Given the description of an element on the screen output the (x, y) to click on. 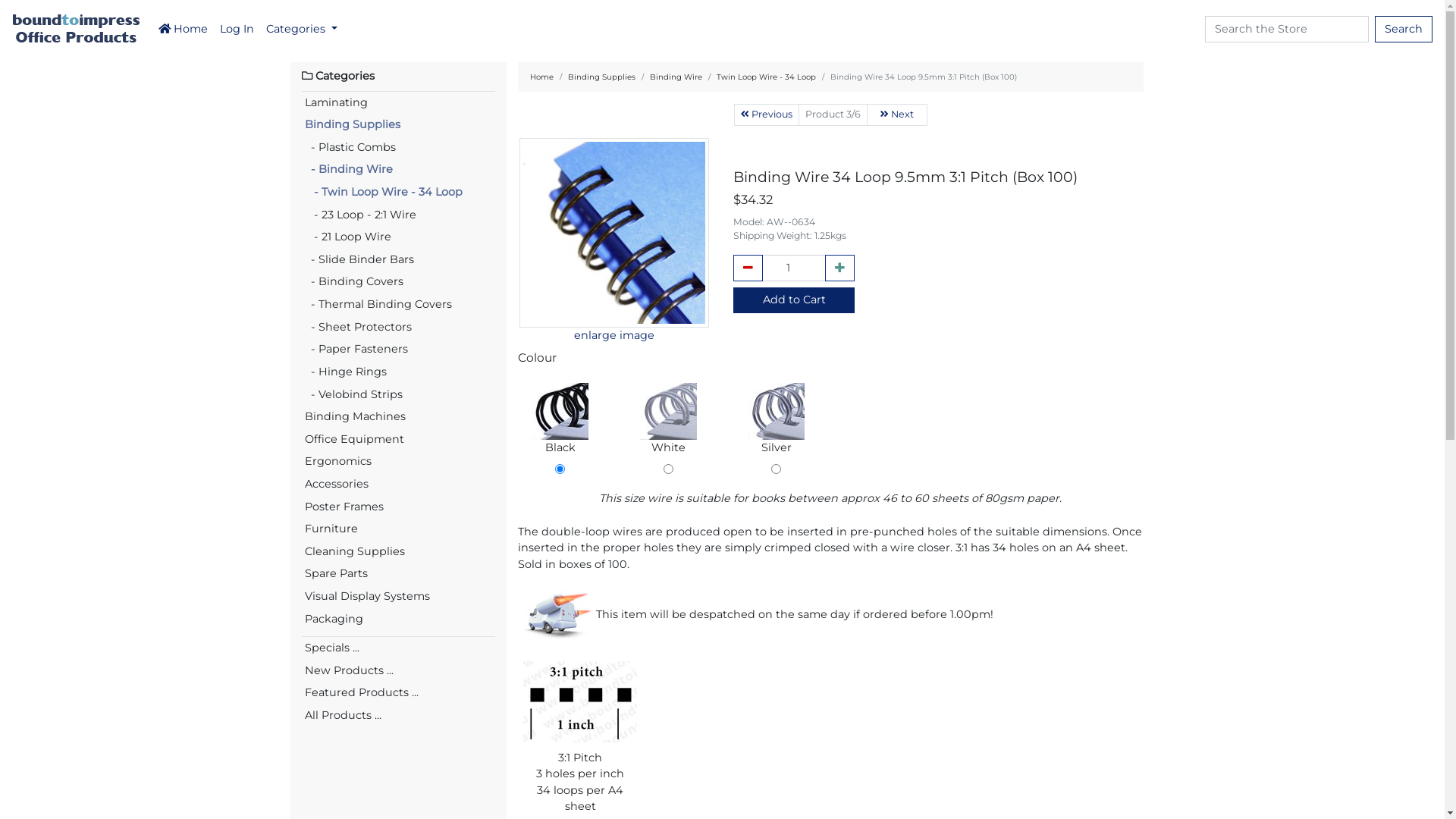
Home Element type: text (182, 29)
  - Velobind Strips Element type: text (398, 394)
Twin Loop Wire - 34 Loop Element type: text (765, 76)
Specials ... Element type: text (398, 648)
New Products ... Element type: text (398, 670)
  - Paper Fasteners Element type: text (398, 349)
  - Thermal Binding Covers Element type: text (398, 304)
Search Element type: text (1403, 29)
Home Element type: text (540, 76)
Binding Supplies Element type: text (398, 124)
   - 23 Loop - 2:1 Wire Element type: text (398, 214)
Visual Display Systems Element type: text (398, 596)
  - Slide Binder Bars Element type: text (398, 259)
Binding Supplies Element type: text (600, 76)
Furniture Element type: text (398, 528)
  - Sheet Protectors Element type: text (398, 327)
enlarge image Element type: text (614, 283)
boundtoimpress Office Products Element type: hover (76, 29)
Poster Frames Element type: text (398, 506)
  - Plastic Combs Element type: text (398, 147)
  - Binding Wire Element type: text (398, 169)
  - Hinge Rings Element type: text (398, 371)
Same Day Despatch Element type: hover (556, 614)
Packaging Element type: text (398, 619)
Ergonomics Element type: text (398, 461)
  - Binding Covers Element type: text (398, 281)
Accessories Element type: text (398, 484)
Cleaning Supplies Element type: text (398, 551)
Laminating Element type: text (398, 102)
Next Element type: text (896, 114)
All Products ... Element type: text (398, 715)
 Binding Wire 34 Loop 9.5mm 3:1 Pitch (Box 100)  Element type: hover (614, 232)
Binding Wire Element type: text (675, 76)
Office Equipment Element type: text (398, 439)
   - Twin Loop Wire - 34 Loop Element type: text (398, 192)
Product 3/6 Element type: text (831, 114)
Previous Element type: text (766, 114)
Binding Machines Element type: text (398, 416)
Featured Products ... Element type: text (398, 692)
Categories Element type: text (301, 29)
   - 21 Loop Wire Element type: text (398, 236)
Log In Element type: text (236, 29)
Add to Cart Element type: text (793, 300)
Spare Parts Element type: text (398, 573)
